Given the description of an element on the screen output the (x, y) to click on. 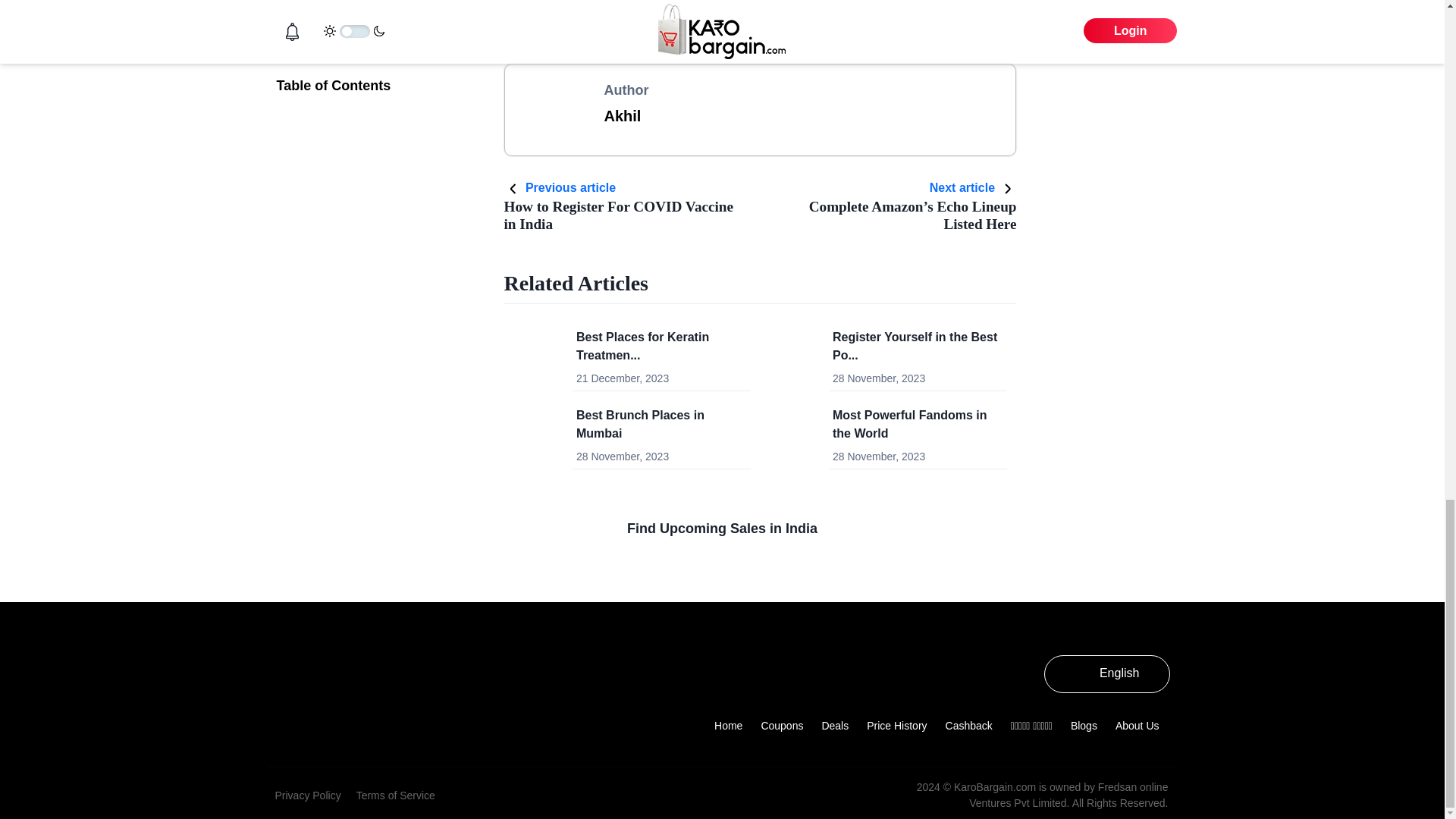
Best Places for Keratin Treatmen... (642, 345)
Register Yourself in the Best Po... (622, 205)
